Given the description of an element on the screen output the (x, y) to click on. 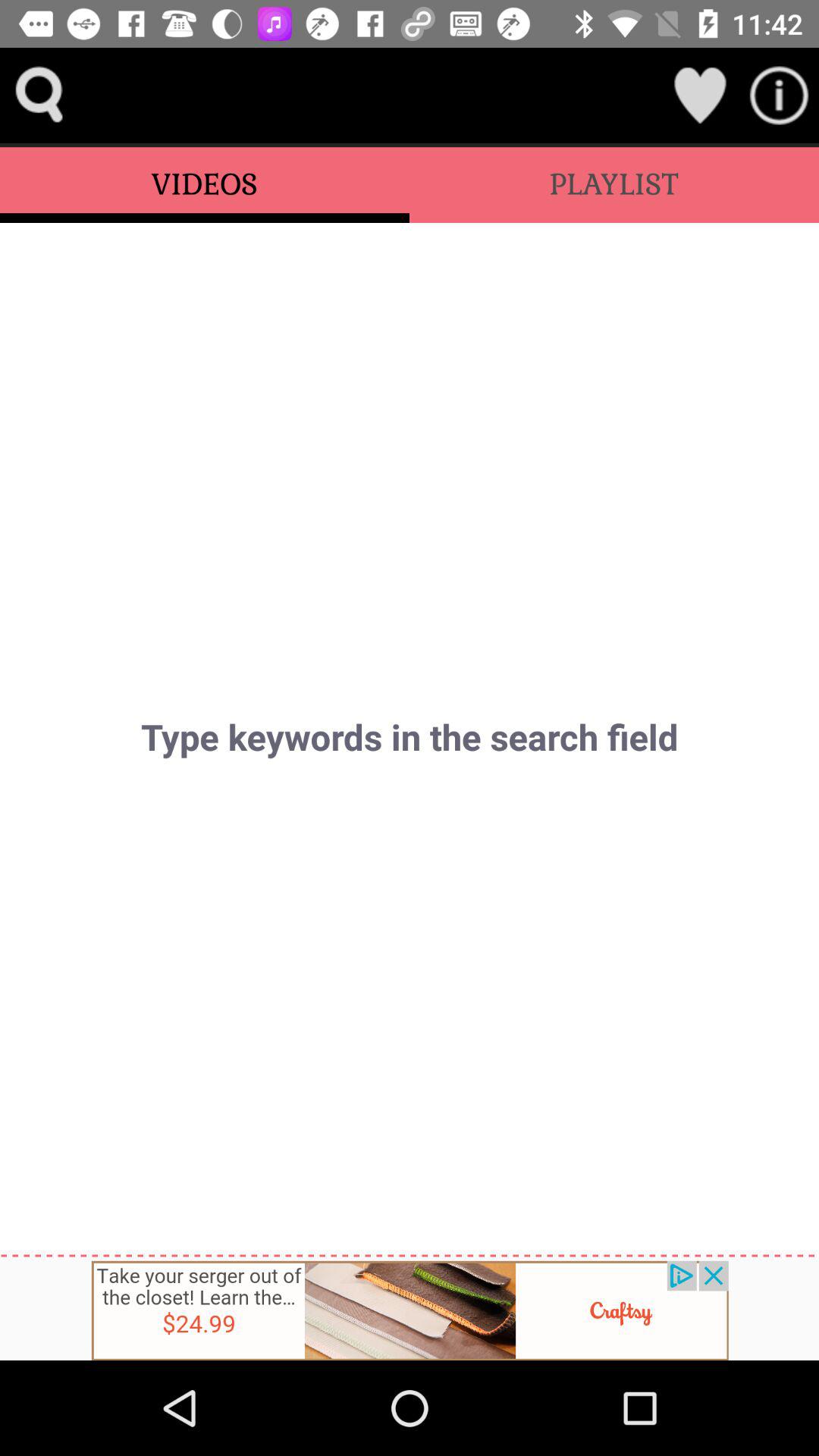
select the warning button (779, 95)
